Given the description of an element on the screen output the (x, y) to click on. 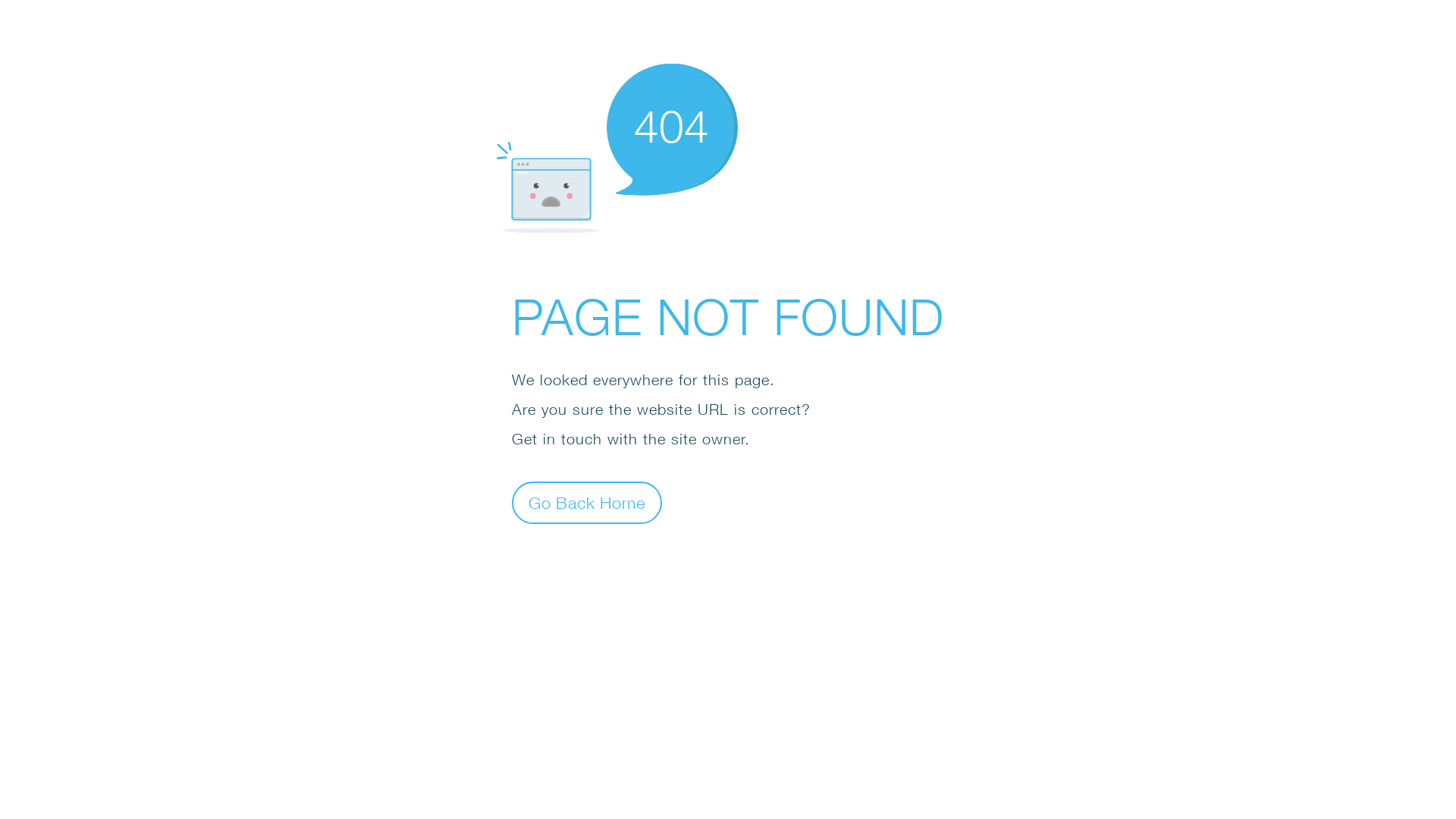
Go Back Home Element type: text (586, 502)
